Given the description of an element on the screen output the (x, y) to click on. 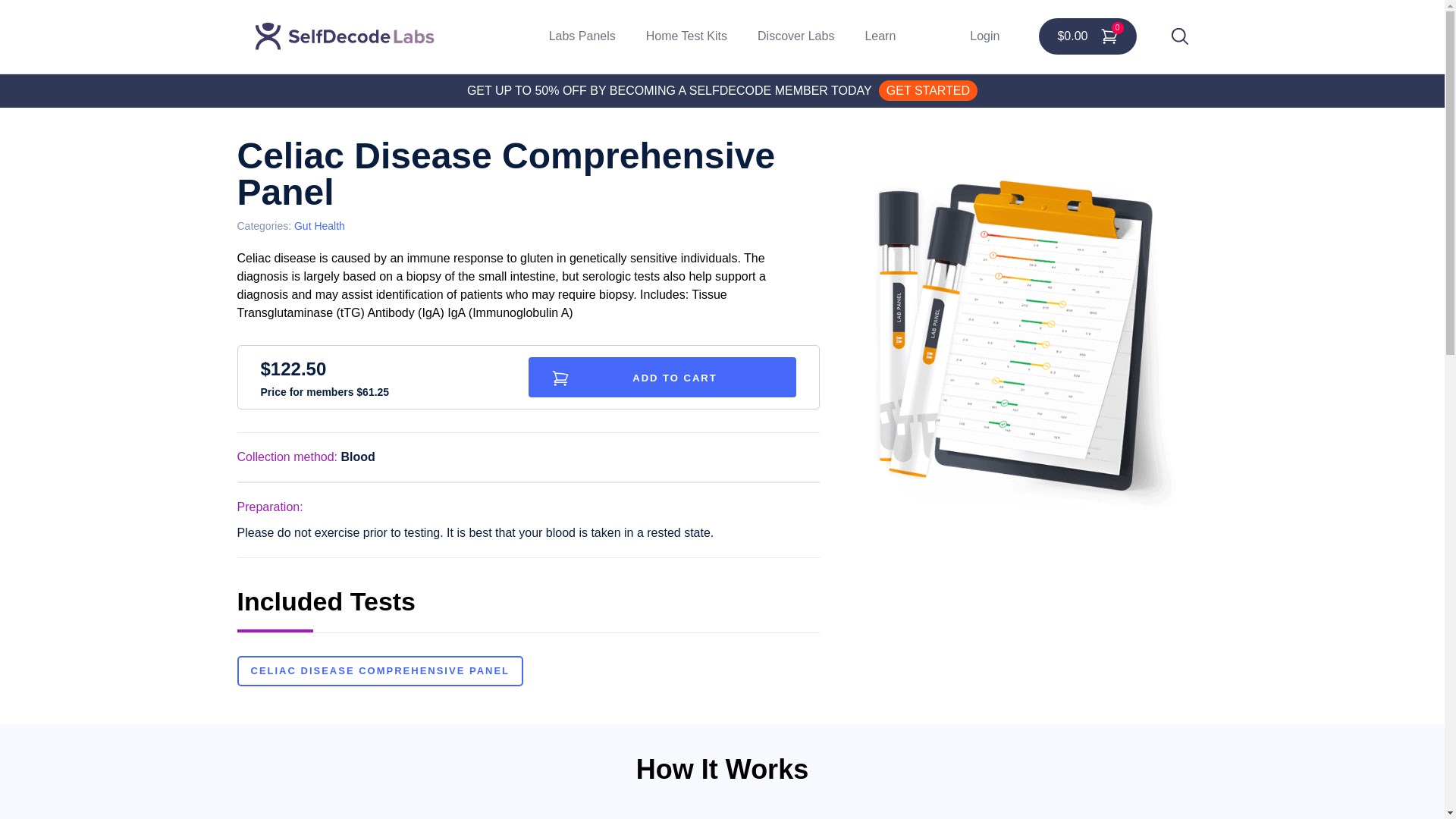
GET STARTED (927, 90)
Labs Panels (581, 36)
Learn (879, 36)
Home Test Kits (686, 36)
Gut Health (319, 225)
CELIAC DISEASE COMPREHENSIVE PANEL (378, 671)
SelfDecode Labs (343, 35)
Login (983, 36)
Discover Labs (795, 36)
ADD TO CART (660, 377)
